Given the description of an element on the screen output the (x, y) to click on. 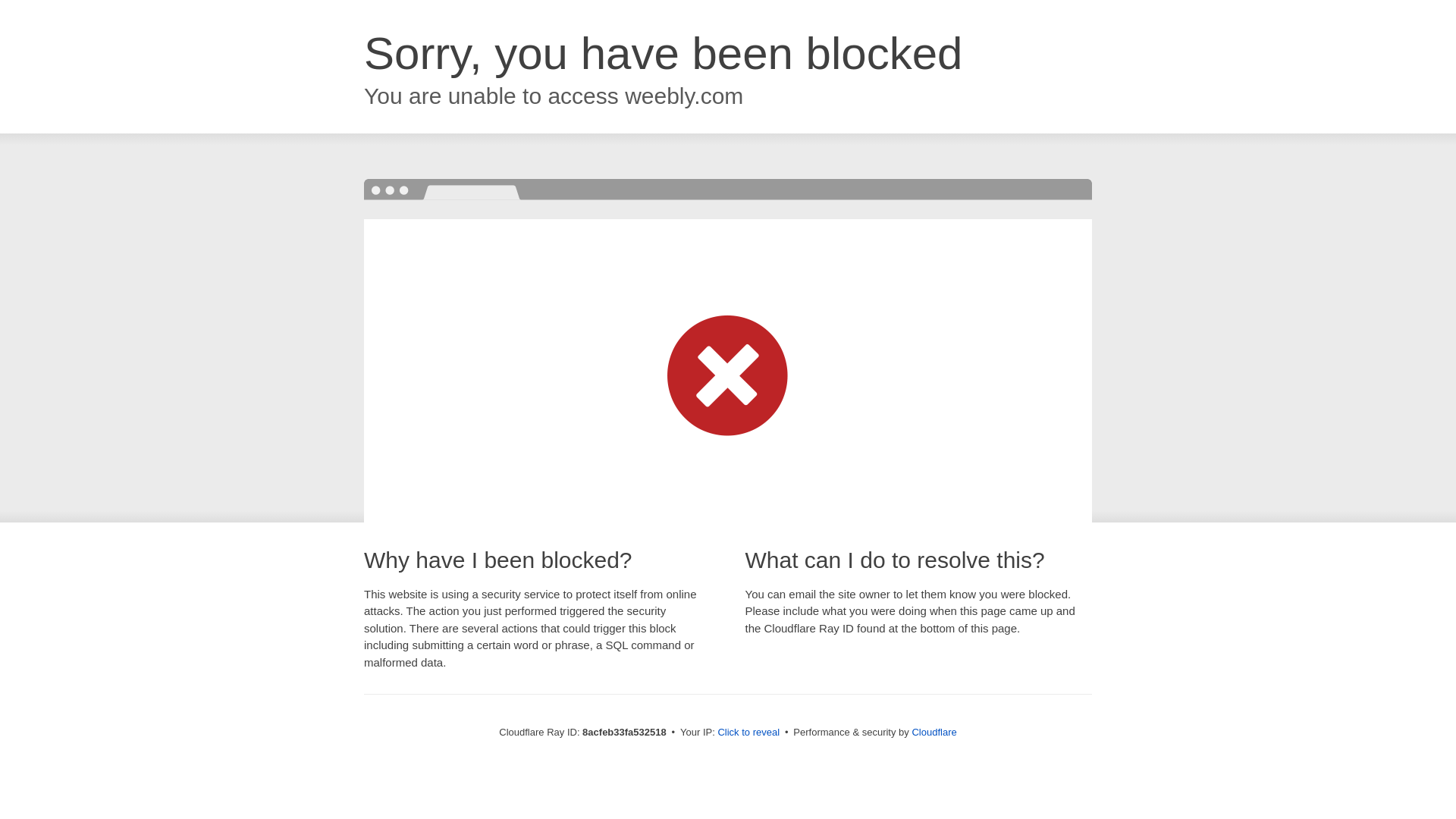
Cloudflare (933, 731)
Click to reveal (747, 732)
